Given the description of an element on the screen output the (x, y) to click on. 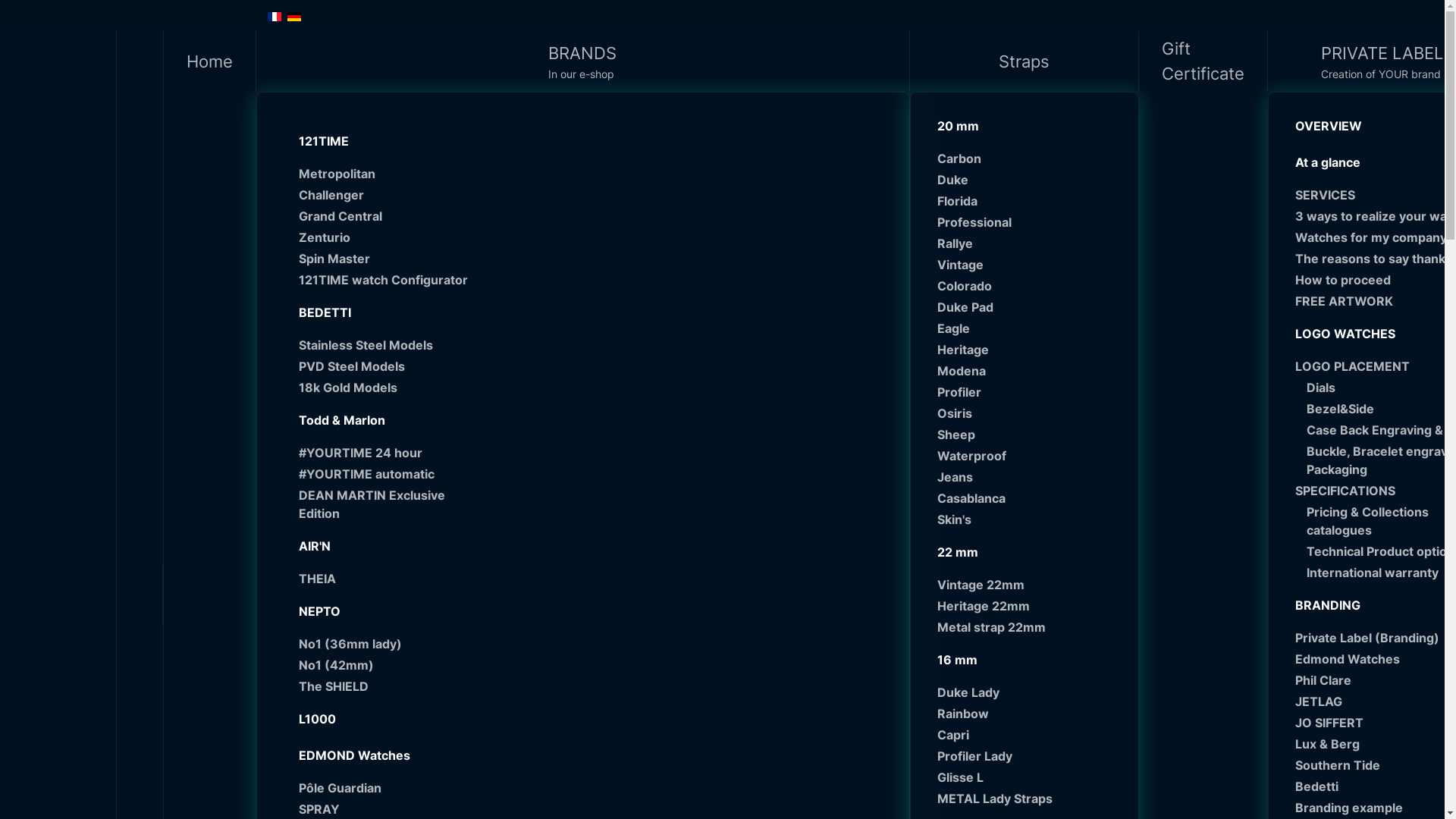
Profiler Lady Element type: text (1030, 755)
Florida Element type: text (1030, 200)
Duke Pad Element type: text (1030, 306)
Jeans Element type: text (1030, 476)
Rallye Element type: text (1030, 243)
Skin's Element type: text (1030, 519)
Spin Master Element type: text (383, 258)
Modena Element type: text (1030, 370)
THEIA Element type: text (383, 578)
The SHIELD Element type: text (383, 685)
Casablanca Element type: text (1030, 497)
Zenturio Element type: text (383, 236)
Home Element type: text (209, 61)
#YOURTIME 24 hour Element type: text (383, 452)
20 mm Element type: text (1023, 125)
121TIME Element type: text (377, 140)
Eagle Element type: text (1030, 327)
Heritage Element type: text (1030, 349)
No1 (36mm lady) Element type: text (383, 643)
Profiler Element type: text (1030, 391)
Straps Element type: text (1024, 61)
NEPTO Element type: text (377, 611)
Metropolitan Element type: text (383, 173)
Osiris Element type: text (1030, 412)
Carbon Element type: text (1030, 158)
Stainless Steel Models Element type: text (383, 344)
Grand Central Element type: text (383, 215)
121TIME watch Configurator Element type: text (383, 279)
22 mm Element type: text (1023, 551)
Sheep Element type: text (1030, 434)
Gift Certificate Element type: text (1203, 61)
#YOURTIME automatic Element type: text (383, 473)
Professional Element type: text (1030, 221)
AIR'N Element type: text (377, 545)
Metal strap 22mm Element type: text (1030, 626)
BRANDS
In our e-shop Element type: text (583, 61)
Vintage Element type: text (1030, 264)
No1 (42mm) Element type: text (383, 664)
Duke Element type: text (1030, 179)
Rainbow Element type: text (1030, 713)
Waterproof Element type: text (1030, 455)
Heritage 22mm Element type: text (1030, 605)
Duke Lady Element type: text (1030, 691)
Colorado Element type: text (1030, 285)
BEDETTI Element type: text (377, 312)
Challenger Element type: text (383, 194)
Todd & Marlon Element type: text (377, 419)
Vintage 22mm Element type: text (1030, 584)
Capri Element type: text (1030, 734)
PVD Steel Models Element type: text (383, 365)
Deutsch Element type: hover (293, 16)
METAL Lady Straps Element type: text (1030, 798)
16 mm Element type: text (1023, 659)
DEAN MARTIN Exclusive Edition Element type: text (383, 504)
L1000 Element type: text (377, 718)
EDMOND Watches Element type: text (377, 755)
Glisse L Element type: text (1030, 776)
18k Gold Models Element type: text (383, 387)
